Given the description of an element on the screen output the (x, y) to click on. 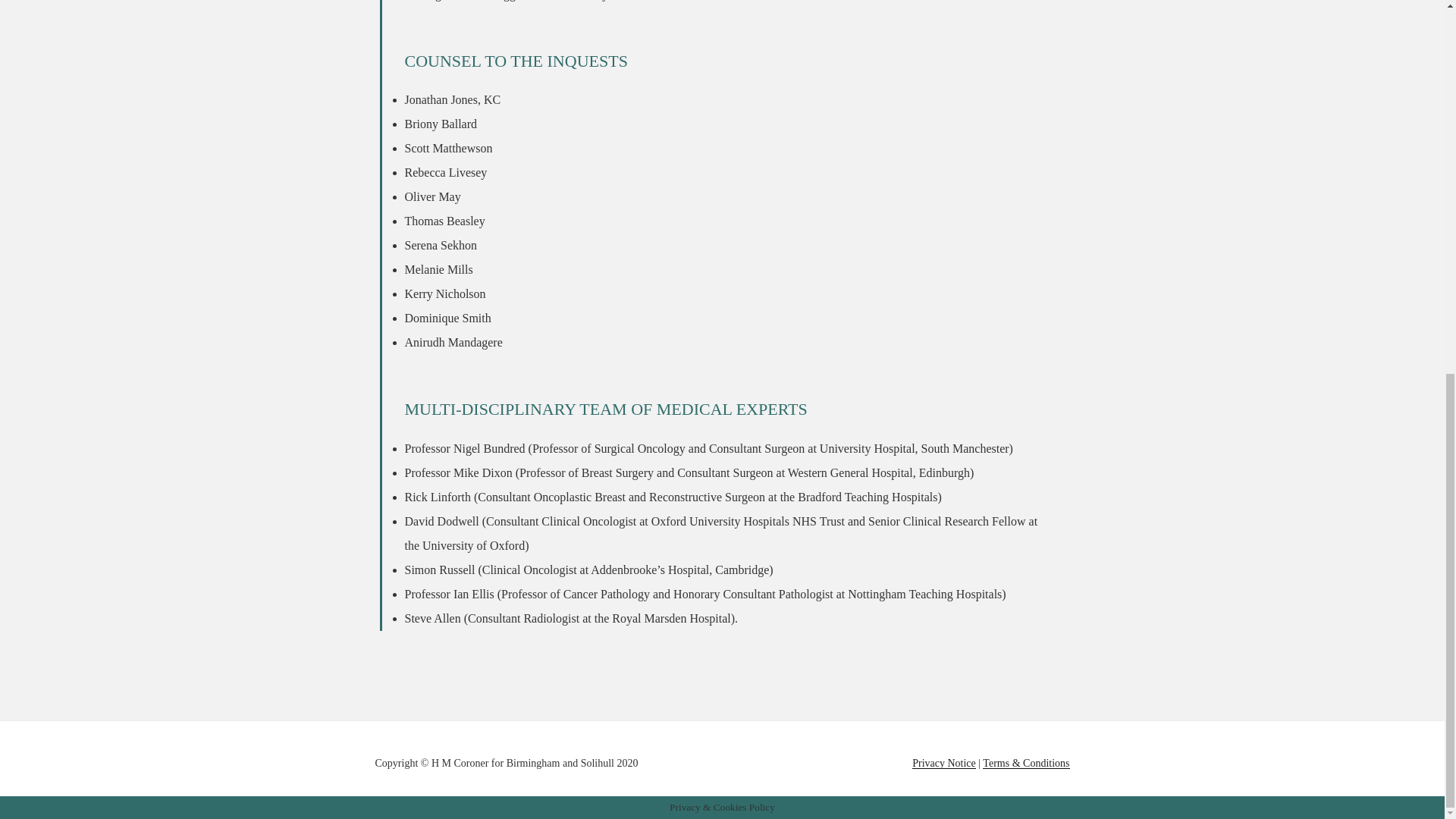
Privacy Notice (943, 763)
